Given the description of an element on the screen output the (x, y) to click on. 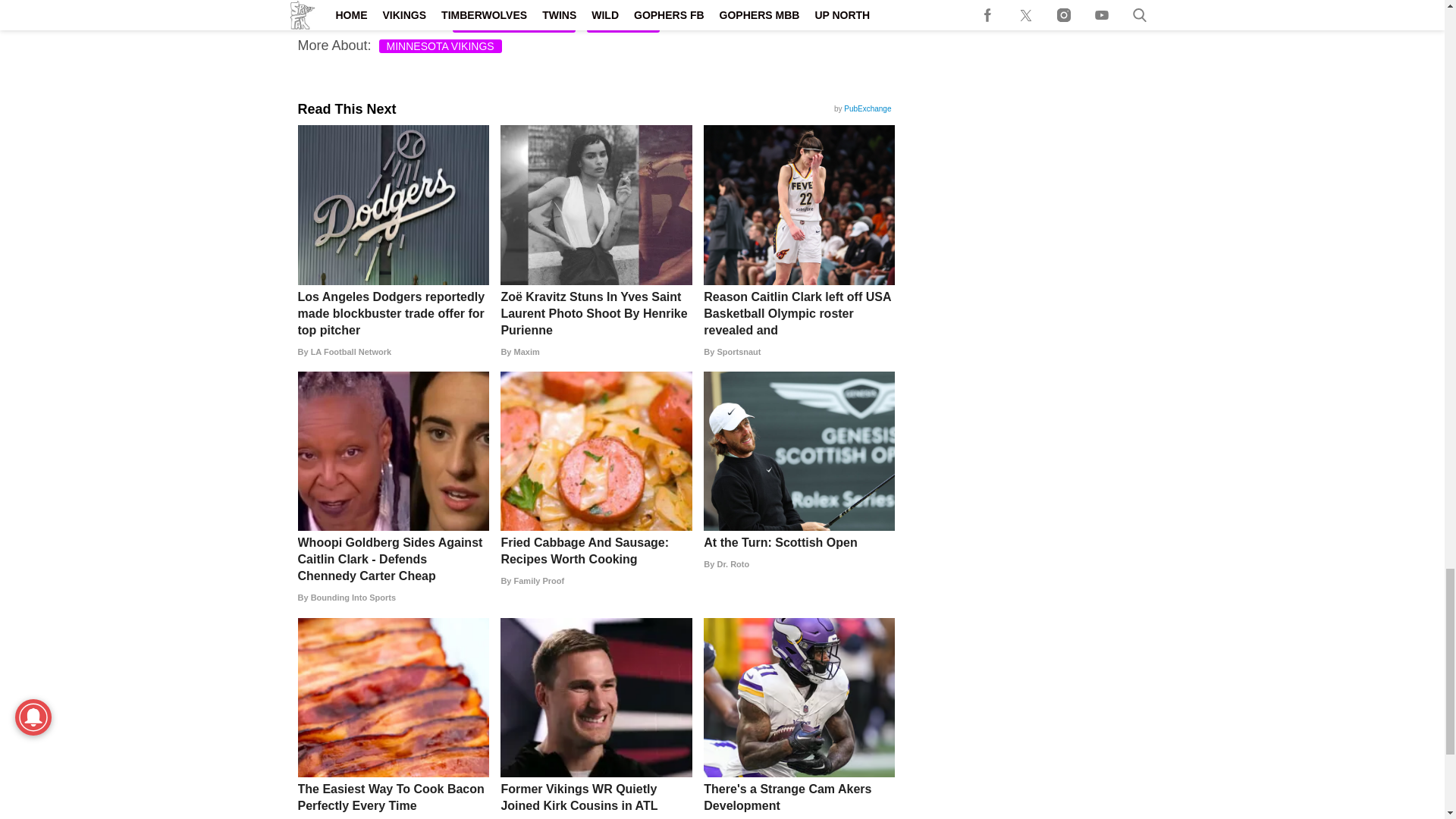
NFL DRAFT (622, 25)
LA Football Network (392, 351)
MINNESOTA VIKINGS (513, 25)
MINNESOTA VIKINGS (440, 46)
